Given the description of an element on the screen output the (x, y) to click on. 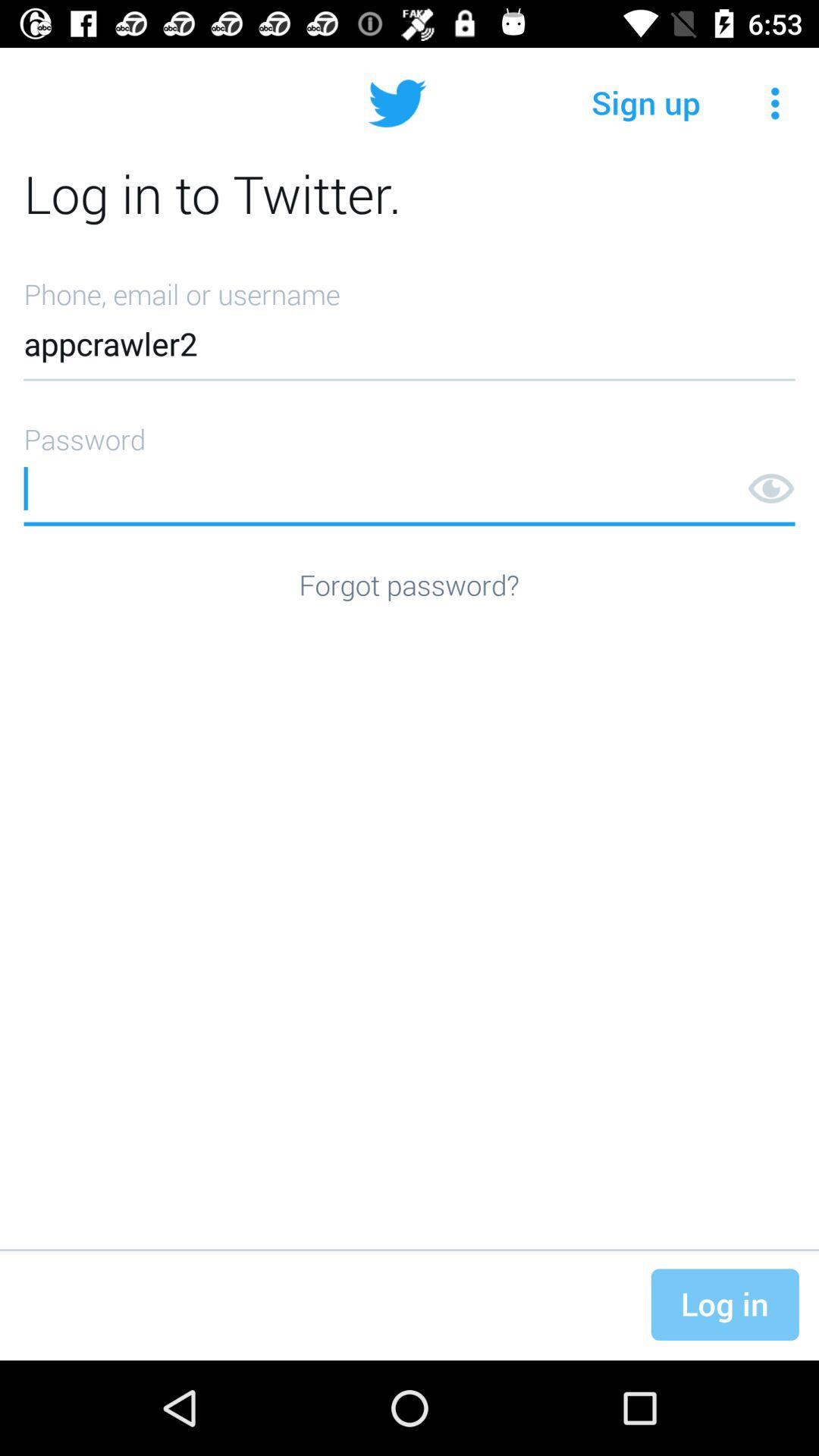
open icon above log in to (775, 103)
